Given the description of an element on the screen output the (x, y) to click on. 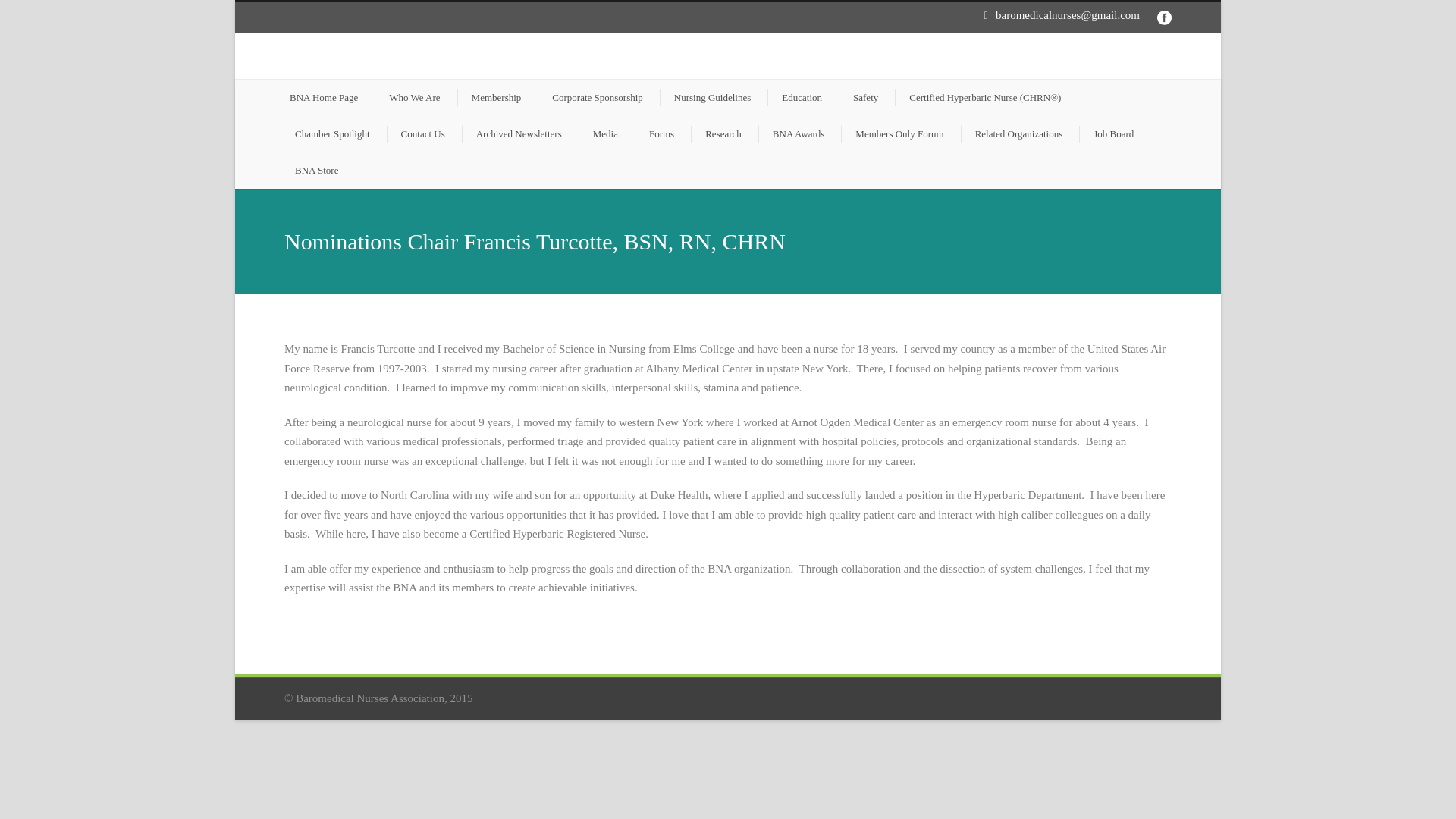
Chamber Spotlight (327, 134)
BNA Home Page (321, 97)
Forms (656, 134)
Education (797, 97)
Media (600, 134)
Safety (860, 97)
Archived Newsletters (513, 134)
Nursing Guidelines (707, 97)
Membership (491, 97)
Research (717, 134)
BNA Awards (793, 134)
Members Only Forum (894, 134)
Corporate Sponsorship (592, 97)
Who We Are (409, 97)
Contact Us (418, 134)
